Given the description of an element on the screen output the (x, y) to click on. 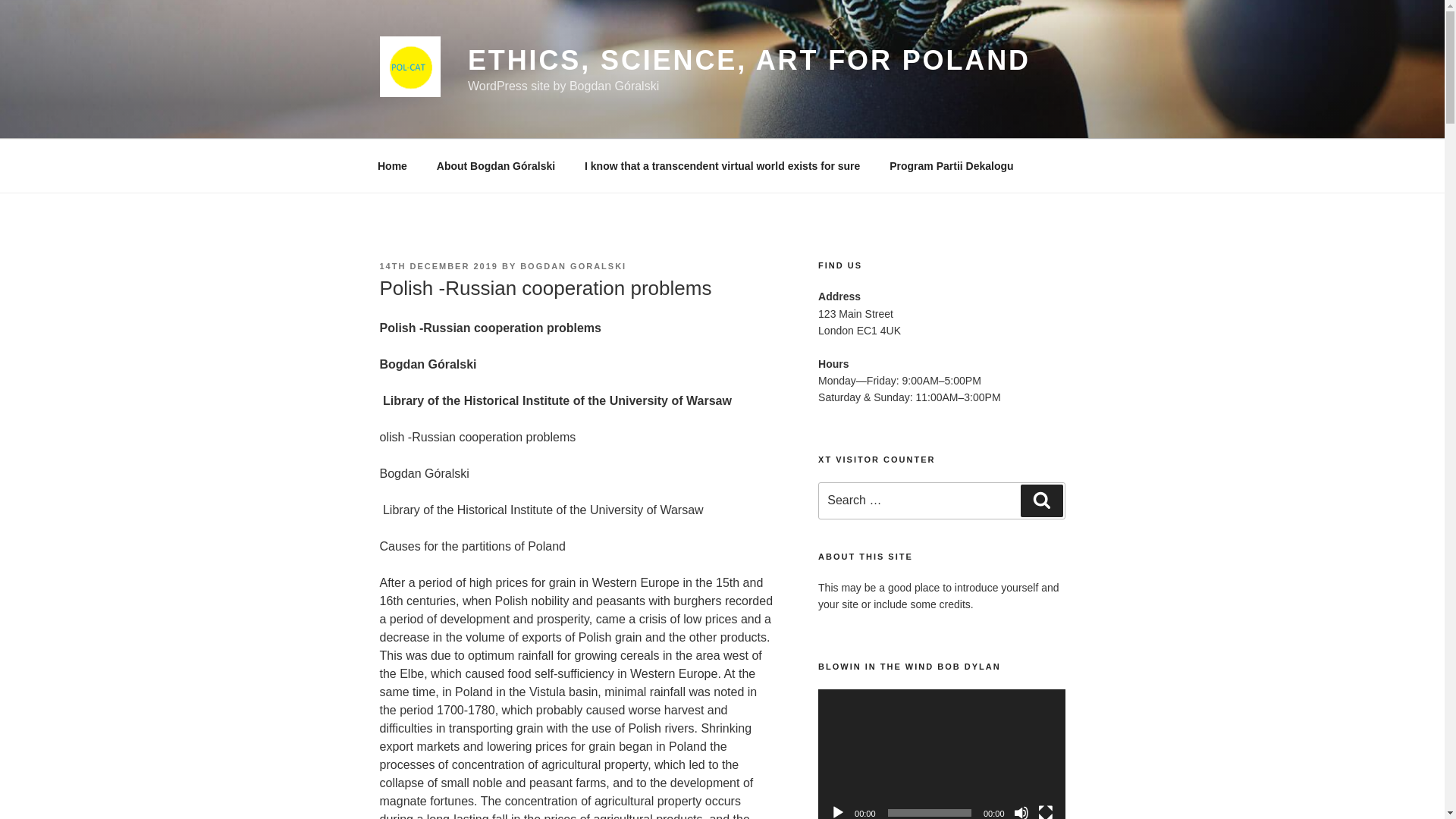
I know that a transcendent virtual world exists for sure (722, 110)
Program Partii Dekalogu (951, 110)
BOGDAN GORALSKI (572, 211)
14TH DECEMBER 2019 (437, 211)
Home (392, 110)
ETHICS, SCIENCE, ART FOR POLAND (748, 60)
Search (1023, 445)
